Given the description of an element on the screen output the (x, y) to click on. 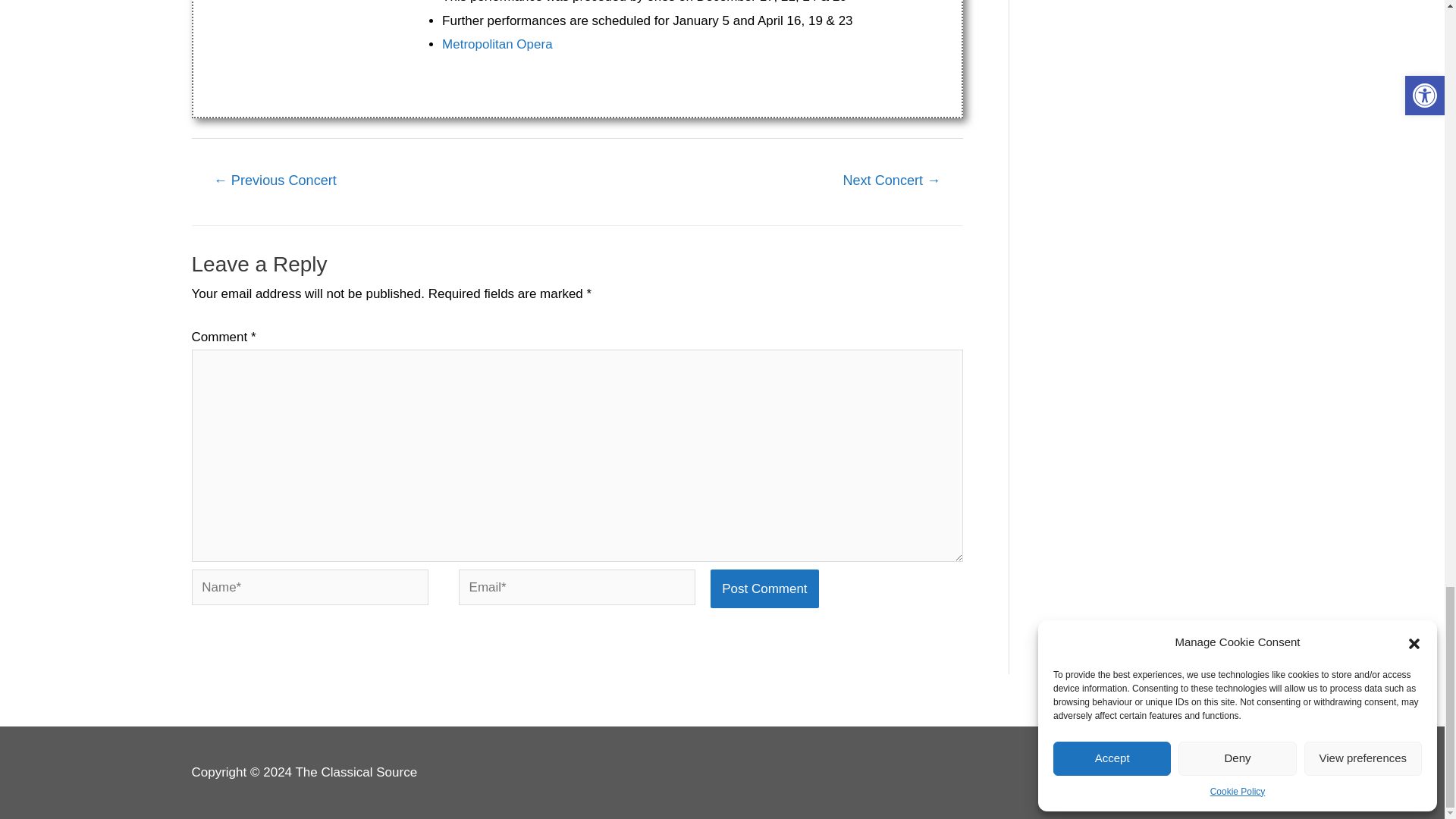
Post Comment (764, 589)
